Given the description of an element on the screen output the (x, y) to click on. 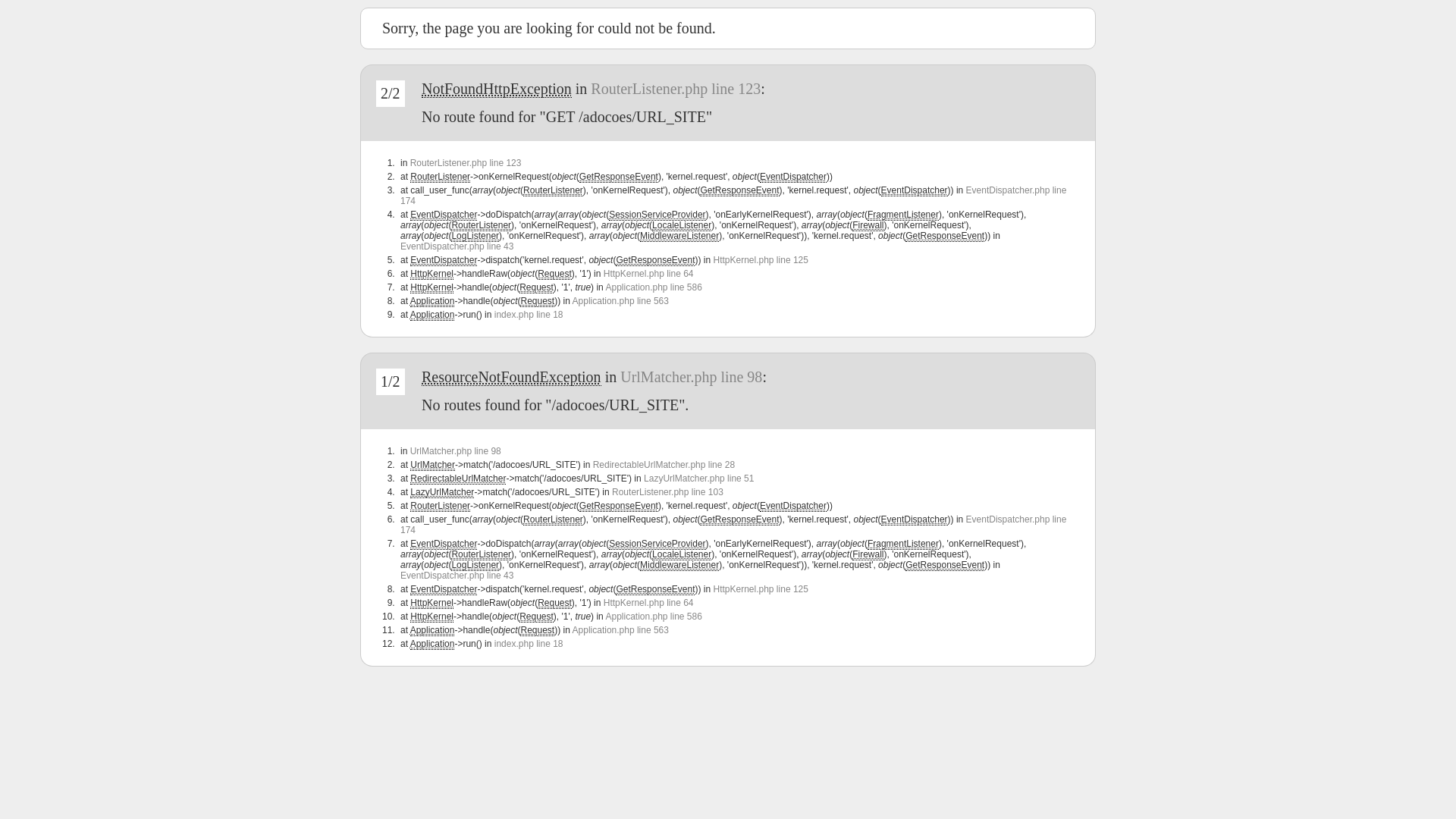
HttpKernel.php line 64 Element type: text (648, 273)
RedirectableUrlMatcher.php line 28 Element type: text (663, 464)
UrlMatcher.php line 98 Element type: text (455, 450)
index.php line 18 Element type: text (528, 643)
RouterListener.php line 123 Element type: text (465, 162)
Application.php line 586 Element type: text (653, 616)
Application.php line 563 Element type: text (620, 629)
EventDispatcher.php line 43 Element type: text (456, 246)
RouterListener.php line 103 Element type: text (667, 491)
LazyUrlMatcher.php line 51 Element type: text (698, 478)
UrlMatcher.php line 98 Element type: text (691, 376)
EventDispatcher.php line 43 Element type: text (456, 575)
Application.php line 586 Element type: text (653, 287)
Application.php line 563 Element type: text (620, 300)
HttpKernel.php line 125 Element type: text (759, 588)
HttpKernel.php line 125 Element type: text (759, 259)
RouterListener.php line 123 Element type: text (675, 88)
EventDispatcher.php line 174 Element type: text (733, 524)
EventDispatcher.php line 174 Element type: text (733, 195)
HttpKernel.php line 64 Element type: text (648, 602)
index.php line 18 Element type: text (528, 314)
